Given the description of an element on the screen output the (x, y) to click on. 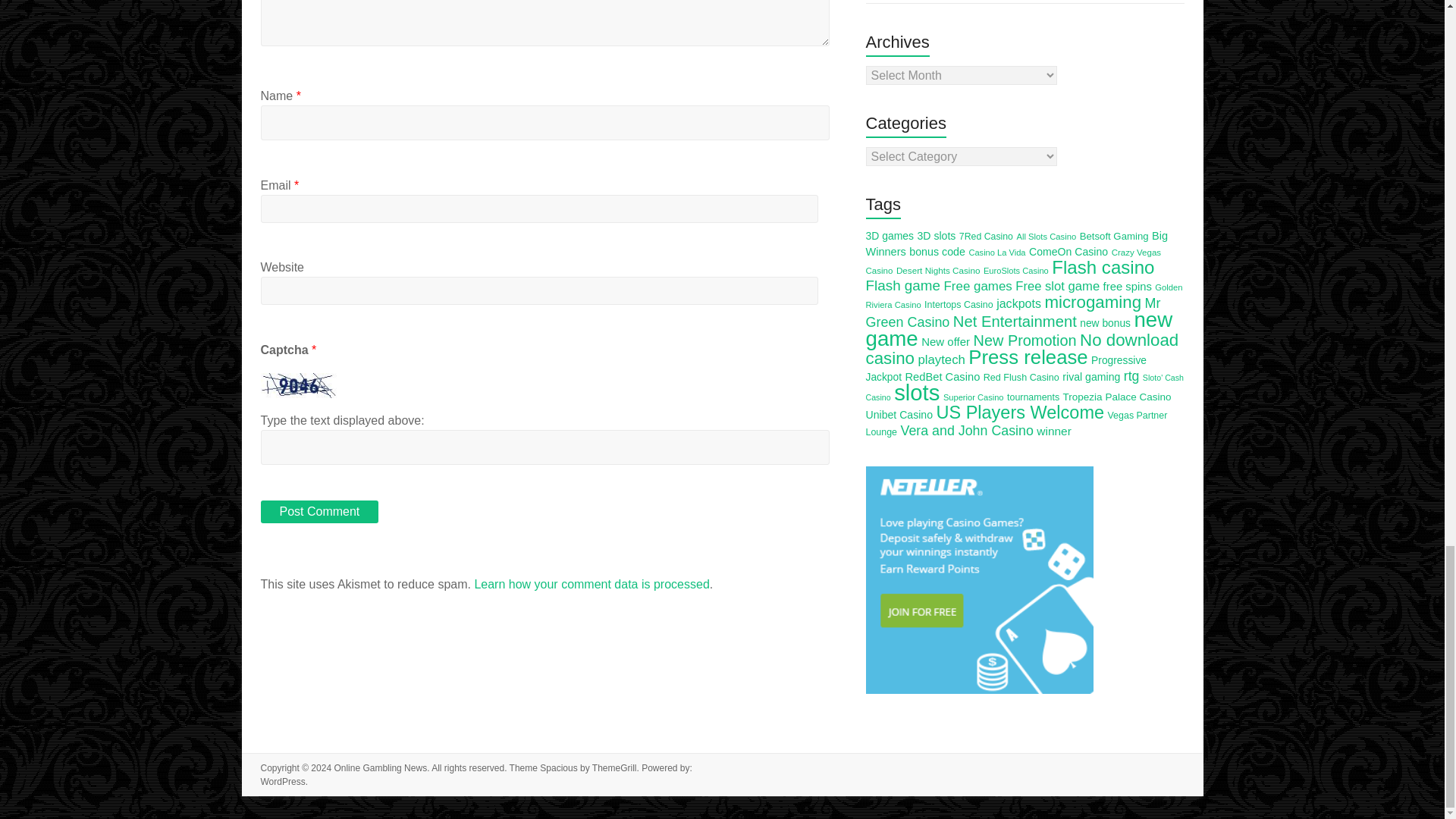
Post Comment (319, 511)
Learn how your comment data is processed (591, 584)
Post Comment (319, 511)
